Given the description of an element on the screen output the (x, y) to click on. 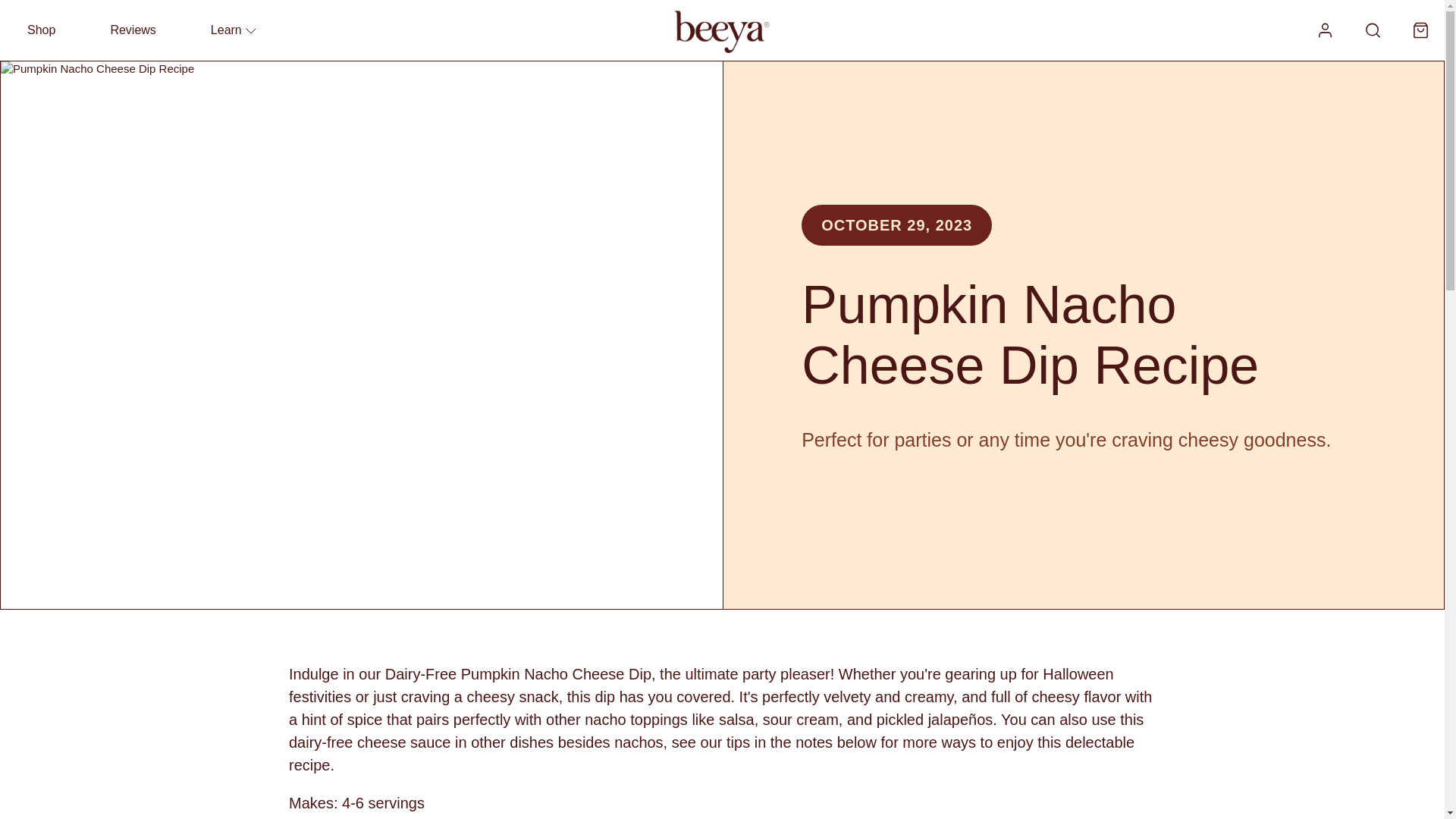
Shop (40, 29)
OCTOBER 29, 2023 (896, 224)
Reviews (132, 29)
Learn (233, 29)
